Given the description of an element on the screen output the (x, y) to click on. 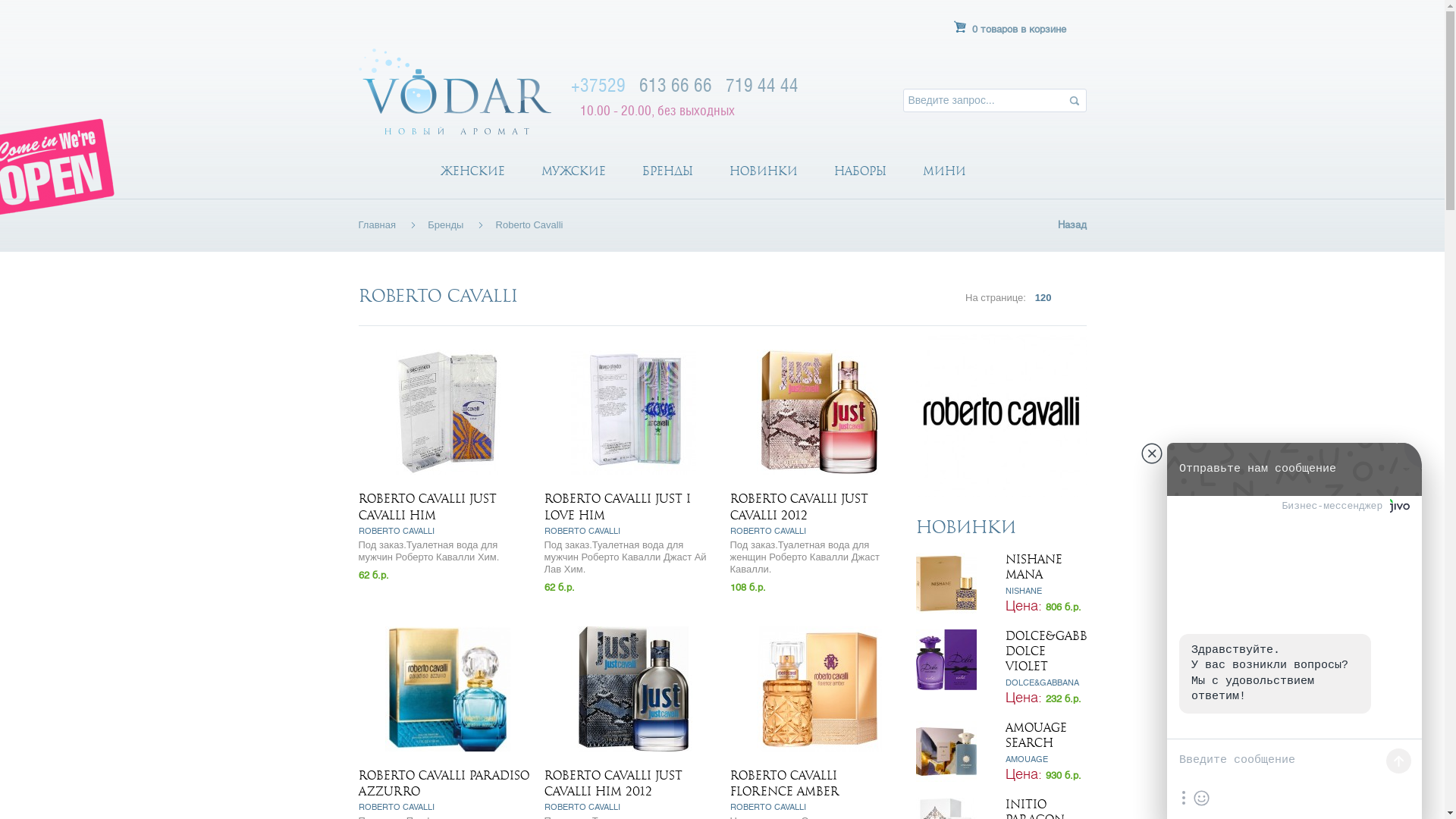
120 Element type: text (1043, 297)
Roberto Cavalli Just Cavalli Him 2012 Element type: hover (633, 688)
Roberto Cavalli Paradiso Azzurro Element type: text (442, 783)
613 66 66 Element type: text (674, 84)
Roberto Cavalli Just I Love Him Element type: text (617, 507)
Dolce&Gabbana Dolce Violet Element type: text (1059, 651)
Nishane Mana Element type: hover (953, 582)
Roberto Cavalli Florence Amber Element type: hover (818, 688)
Roberto Cavalli Just Cavalli 2012 Element type: text (798, 507)
Roberto Cavalli Just Cavalli Him  Element type: hover (446, 411)
Amouage Search Element type: hover (953, 751)
Roberto Cavalli Florence Amber Element type: text (783, 783)
Roberto Cavalli Just I Love Him Element type: hover (633, 411)
Nishane Mana Element type: text (1033, 566)
Roberto Cavalli Just Cavalli Him Element type: text (426, 507)
Roberto Cavalli Just Cavalli 2012 Element type: hover (818, 411)
Amouage Search Element type: text (1035, 735)
Roberto Cavalli Paradiso Azzurro Element type: hover (446, 688)
Roberto Cavalli Just Cavalli Him 2012 Element type: text (613, 783)
Roberto Cavalli Element type: hover (1001, 411)
Dolce&Gabbana Dolce Violet Element type: hover (953, 659)
719 44 44 Element type: text (760, 84)
